Given the description of an element on the screen output the (x, y) to click on. 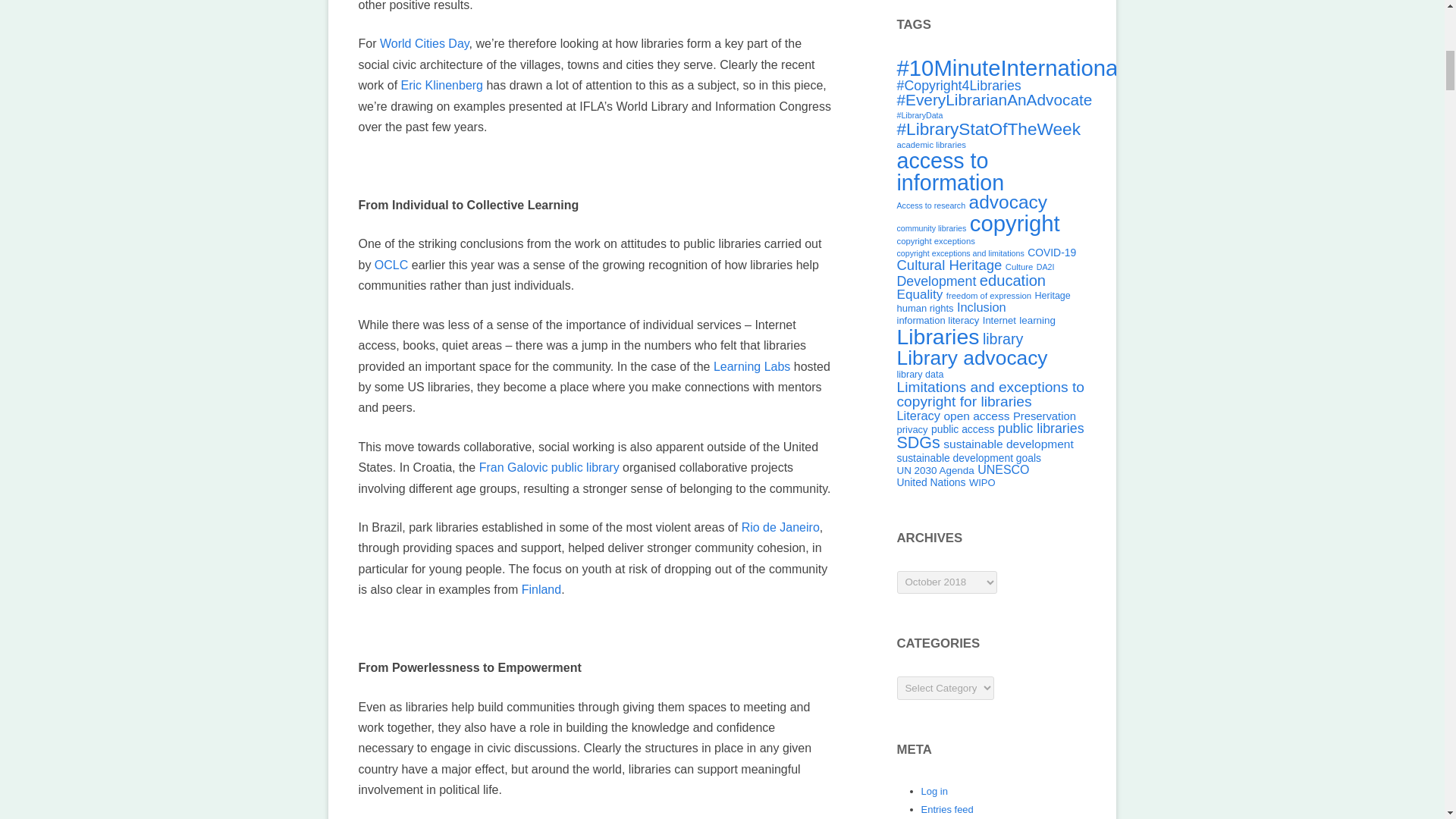
Learning Labs (751, 365)
Finland (540, 589)
OCLC (390, 264)
Fran Galovic public library (549, 467)
Rio de Janeiro (780, 526)
World Cities Day (424, 42)
Eric Klinenberg (442, 84)
